Given the description of an element on the screen output the (x, y) to click on. 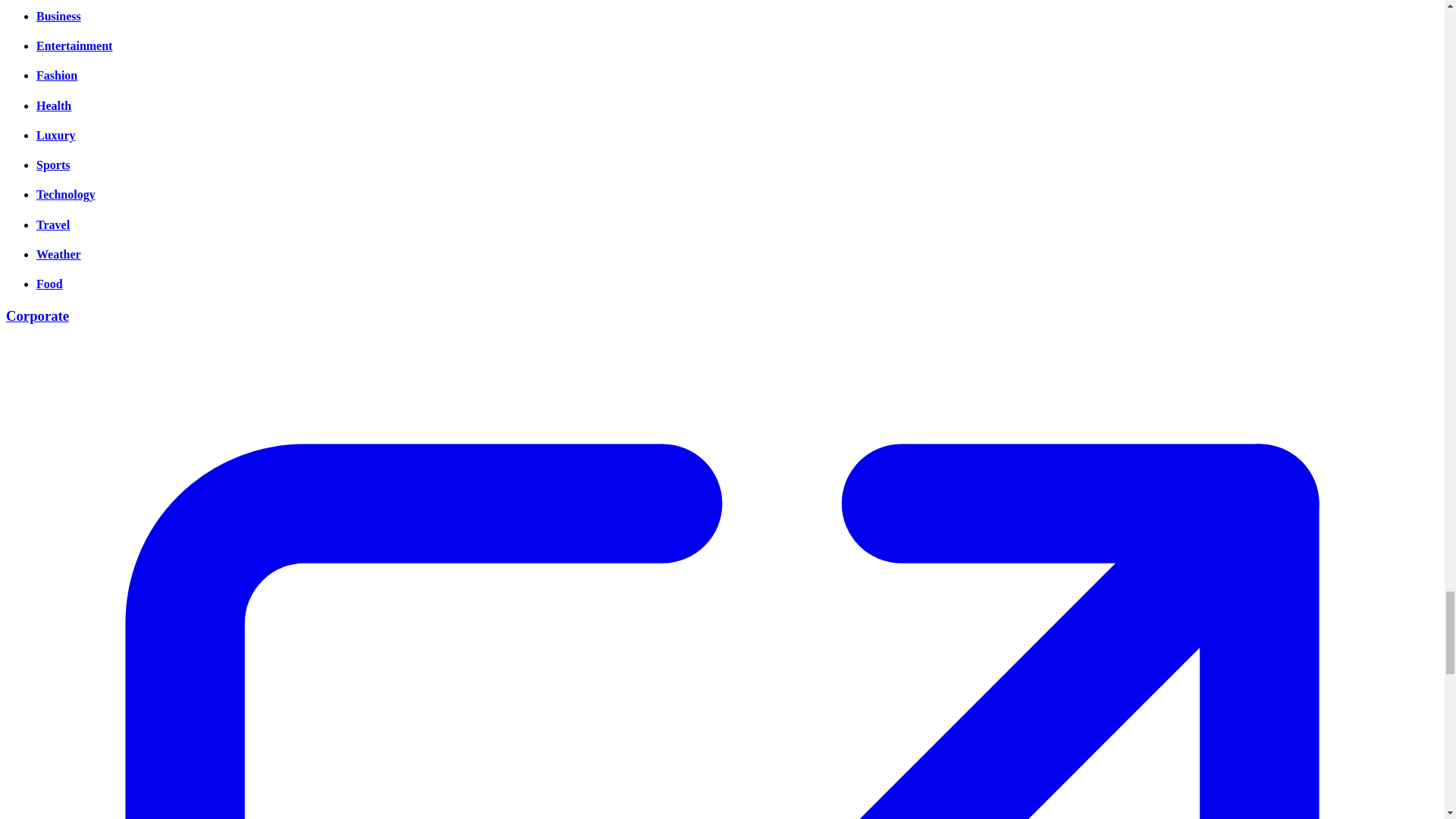
Entertainment (74, 45)
Weather (58, 254)
Fashion (56, 74)
Travel (52, 224)
Technology (66, 194)
Luxury (55, 134)
Business (58, 15)
Food (49, 283)
Health (53, 105)
Sports (52, 164)
